Given the description of an element on the screen output the (x, y) to click on. 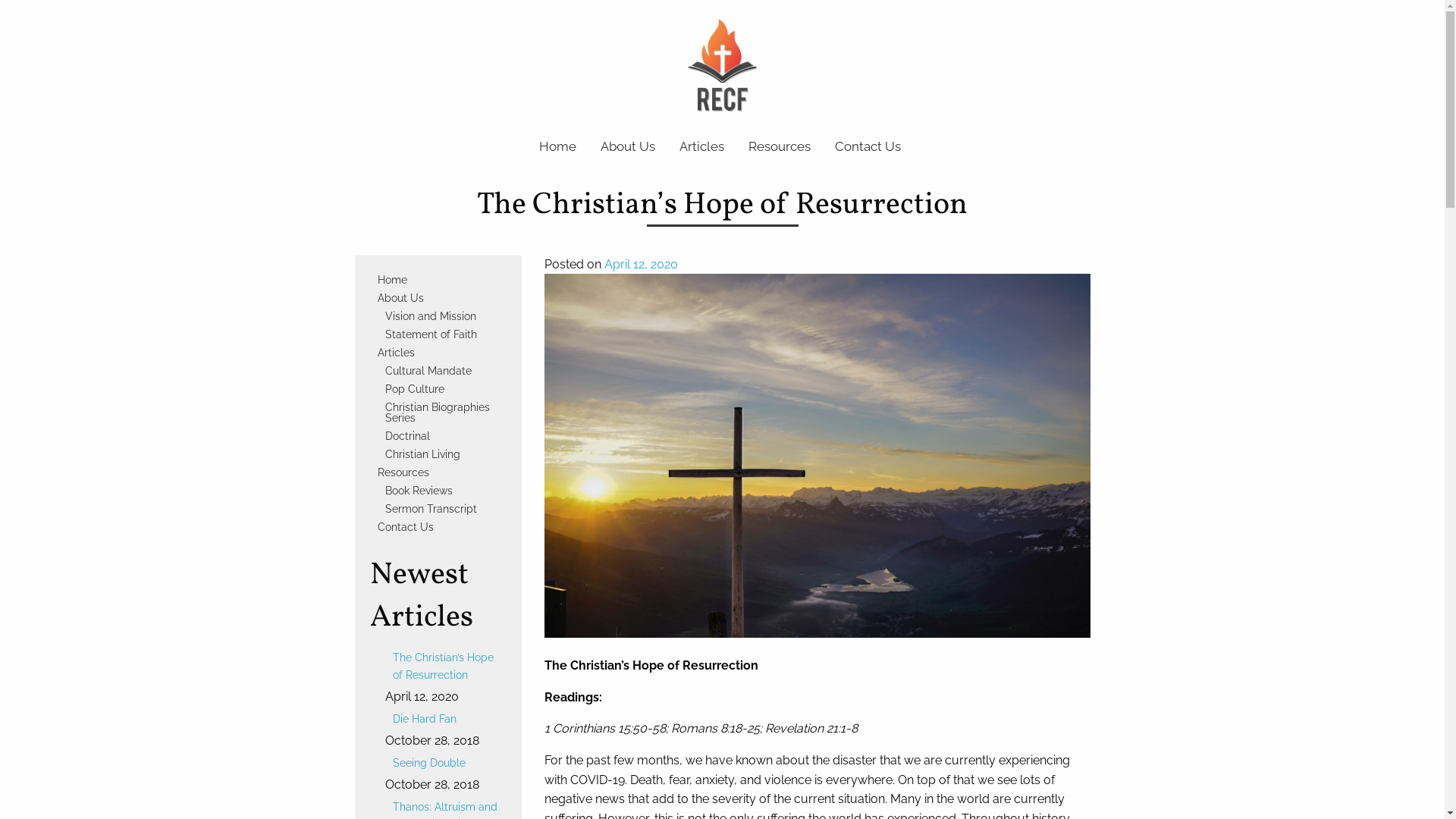
Pop Culture Element type: text (441, 388)
Contact Us Element type: text (438, 526)
Vision and Mission Element type: text (441, 316)
Resources Element type: text (438, 472)
Resources Element type: text (779, 146)
April 12, 2020 Element type: text (640, 264)
Articles Element type: text (438, 352)
Statement of Faith Element type: text (441, 334)
About Us Element type: text (627, 146)
Christian Biographies Series Element type: text (441, 412)
Home Element type: text (557, 146)
Sermon Transcript Element type: text (441, 508)
Articles Element type: text (701, 146)
Cultural Mandate Element type: text (441, 370)
Die Hard Fan Element type: text (445, 718)
Seeing Double Element type: text (445, 762)
Contact Us Element type: text (867, 146)
About Us Element type: text (438, 297)
Book Reviews Element type: text (441, 490)
Christian Living Element type: text (441, 454)
Doctrinal Element type: text (441, 435)
Home Element type: text (438, 279)
